Given the description of an element on the screen output the (x, y) to click on. 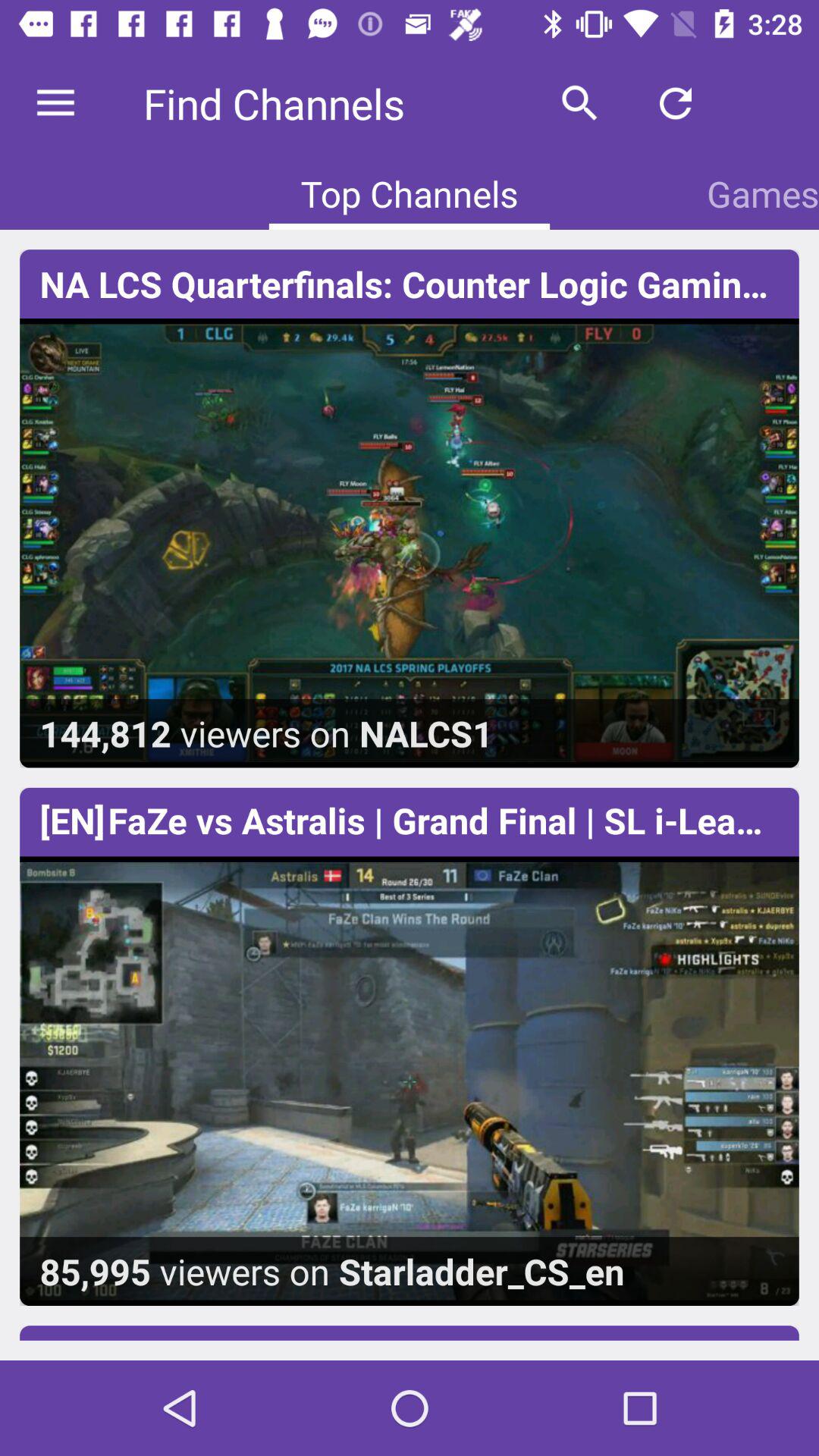
turn off the app next to the top channels item (762, 193)
